Given the description of an element on the screen output the (x, y) to click on. 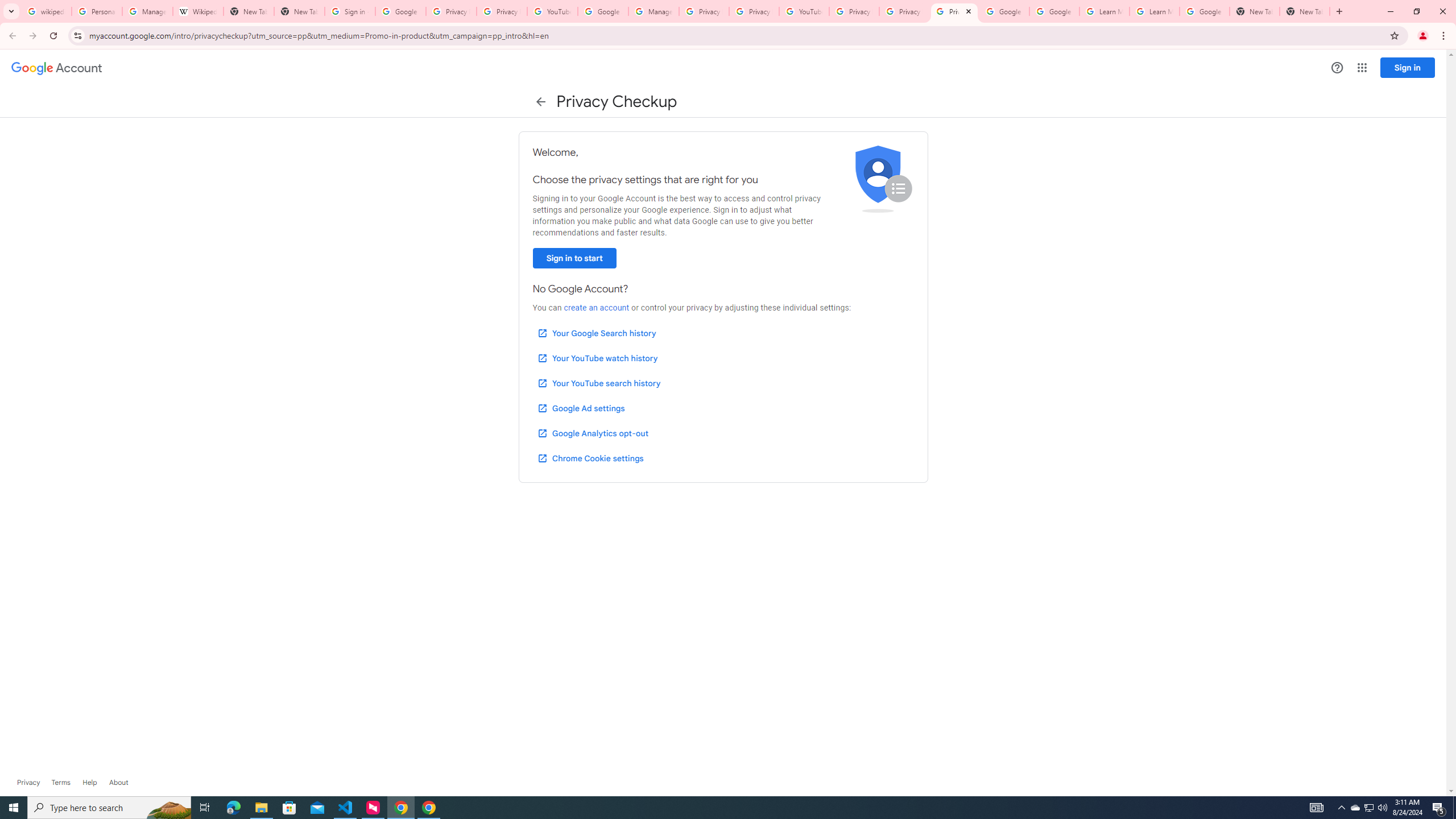
Google Account Help (1054, 11)
Manage your Location History - Google Search Help (146, 11)
Google Ad settings (580, 408)
New Tab (1304, 11)
